Given the description of an element on the screen output the (x, y) to click on. 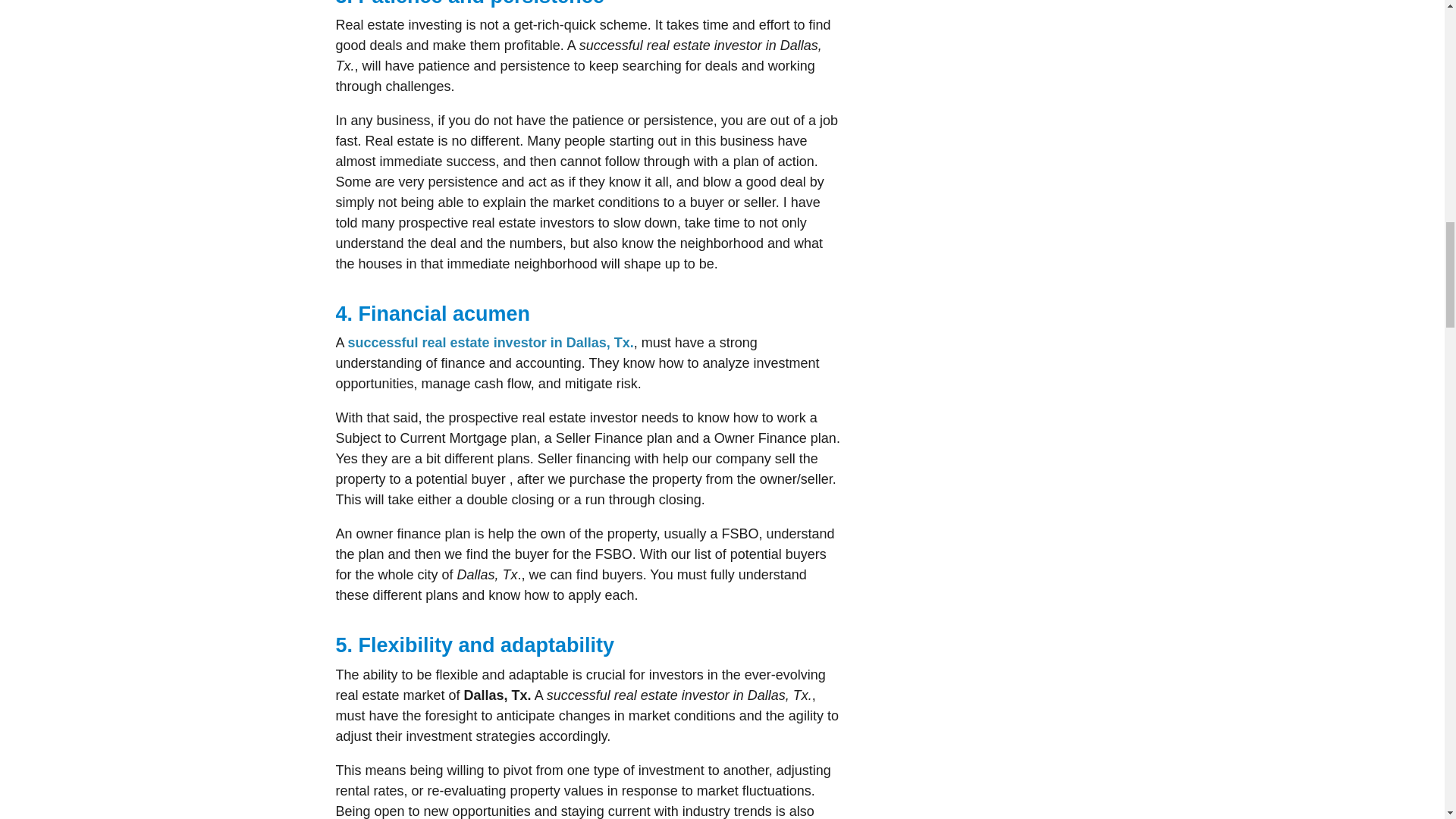
successful real estate investor in Dallas, Tx. (490, 342)
